Given the description of an element on the screen output the (x, y) to click on. 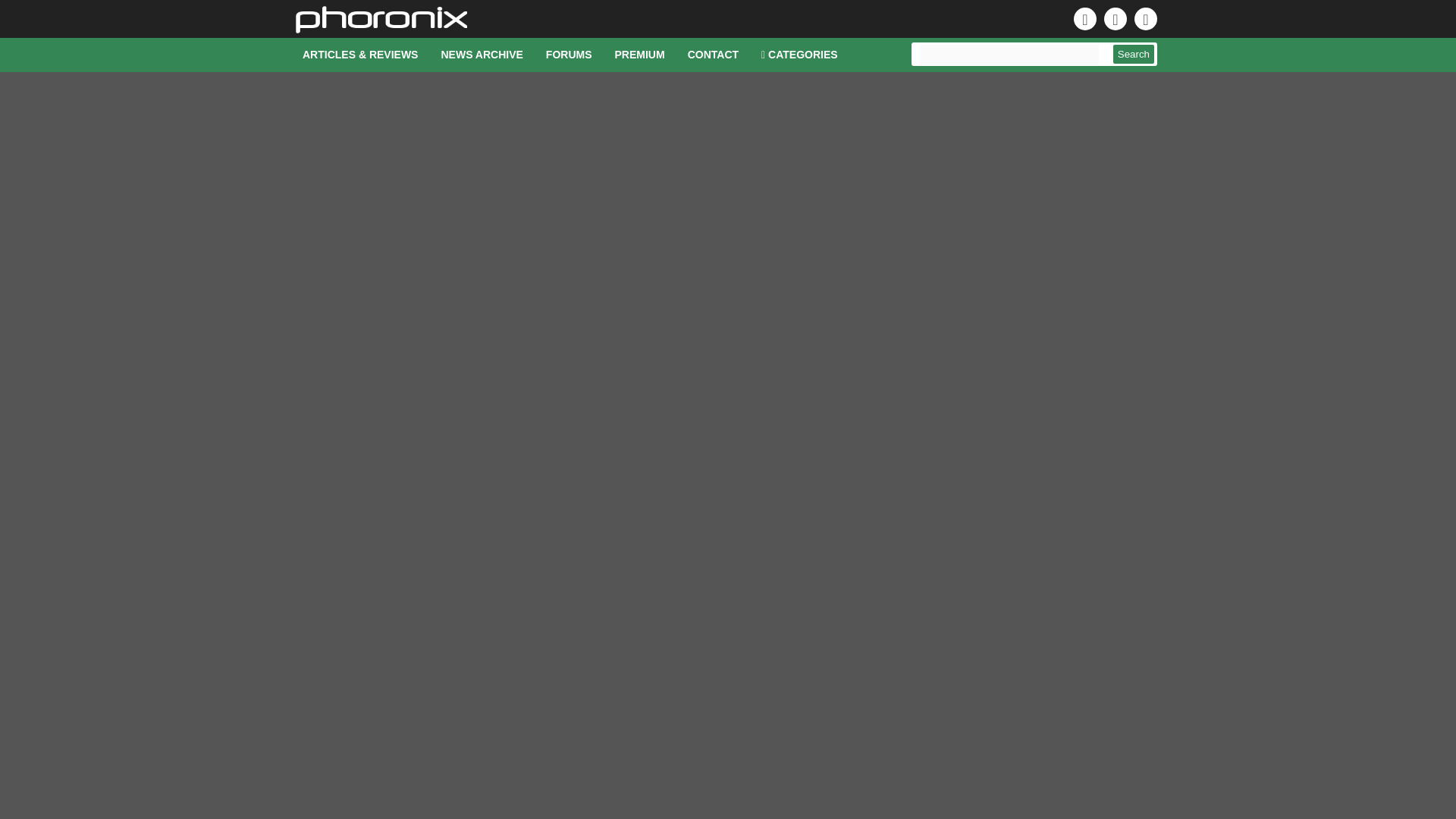
CONTACT (713, 54)
Search (1133, 54)
Search (1133, 54)
PREMIUM (640, 54)
NEWS ARCHIVE (481, 54)
FORUMS (569, 54)
